Given the description of an element on the screen output the (x, y) to click on. 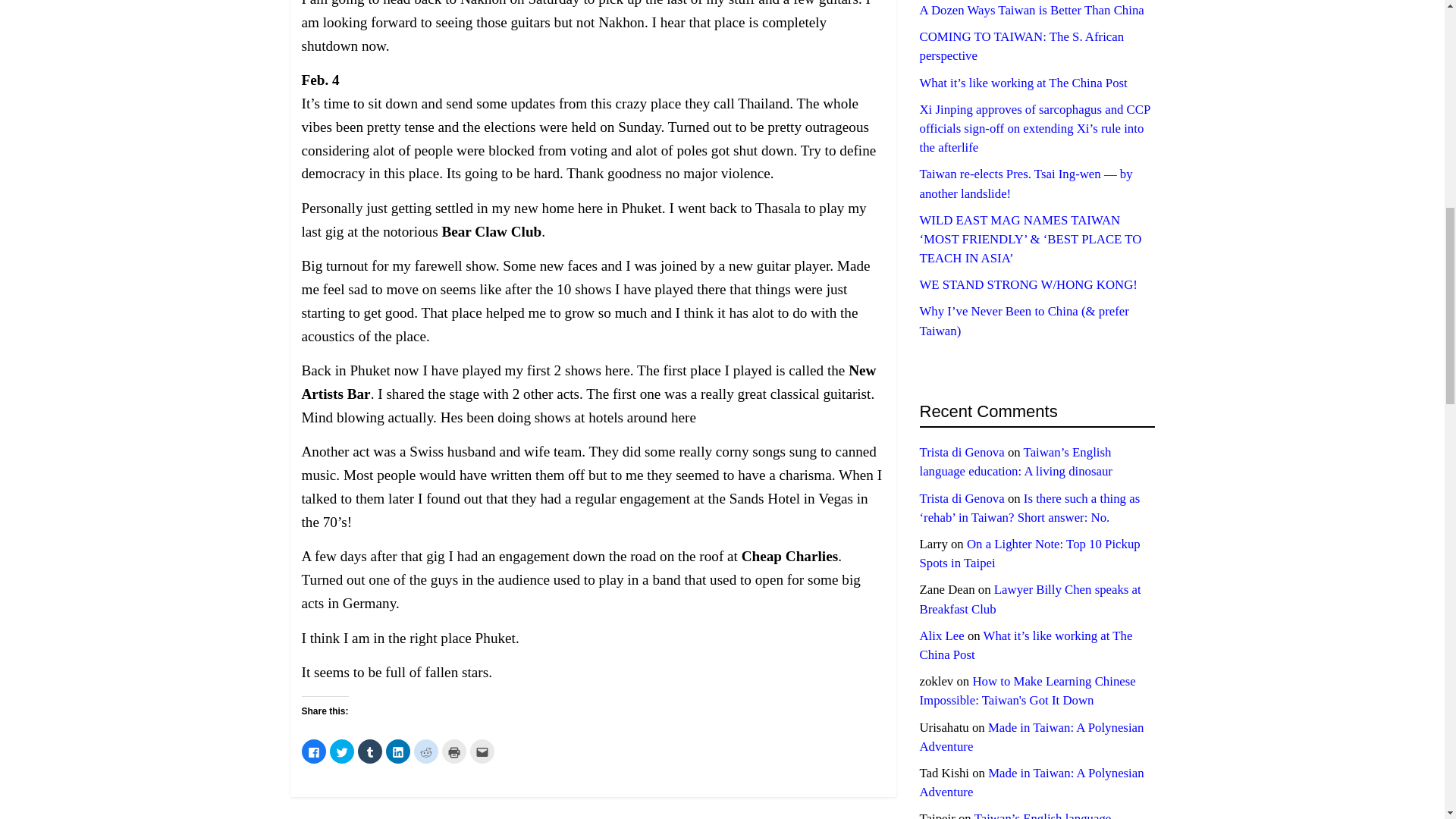
Click to share on LinkedIn (397, 751)
Click to share on Tumblr (369, 751)
Click to print (453, 751)
Click to share on Facebook (313, 751)
Click to share on Reddit (425, 751)
Click to share on Twitter (341, 751)
Click to email this to a friend (482, 751)
